Given the description of an element on the screen output the (x, y) to click on. 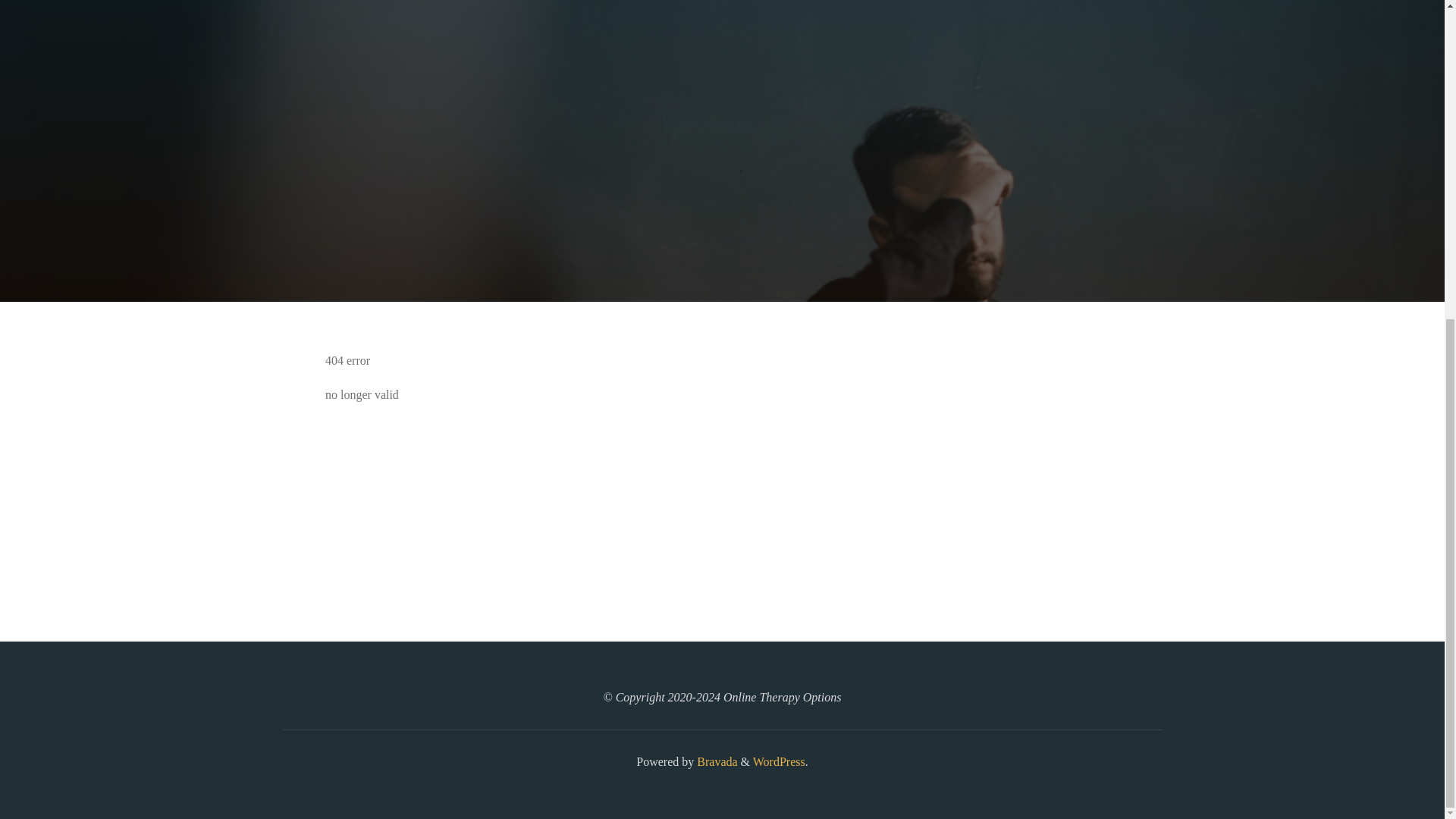
Bravada WordPress Theme by Cryout Creations (715, 761)
Bravada (715, 761)
Read more (721, 207)
Semantic Personal Publishing Platform (778, 761)
WordPress (778, 761)
